Given the description of an element on the screen output the (x, y) to click on. 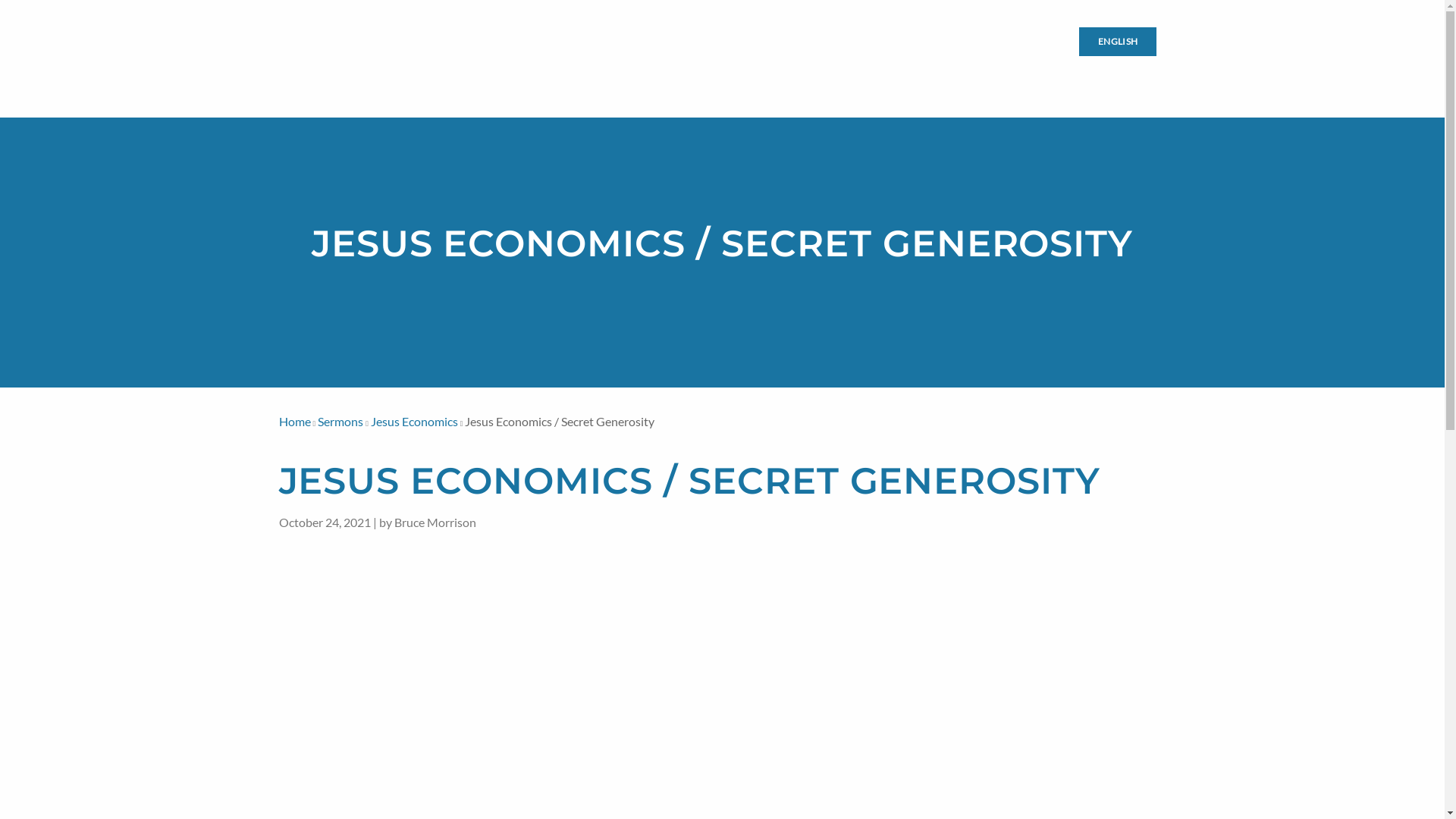
SERMONS Element type: text (941, 75)
LATEST UPDATES Element type: text (606, 75)
St John's Anglican Cathedral, Parramatta Element type: text (343, 58)
SUNDAYS Element type: text (780, 75)
CONTACT Element type: text (1132, 75)
GIVE Element type: text (1073, 75)
Home Element type: text (294, 421)
LIVE STREAM Element type: text (957, 41)
ENGLISH Element type: text (1118, 41)
Sermons Element type: text (340, 421)
Jesus Economics Element type: text (414, 421)
ABOUT Element type: text (1015, 75)
CONNECT Element type: text (860, 75)
